Given the description of an element on the screen output the (x, y) to click on. 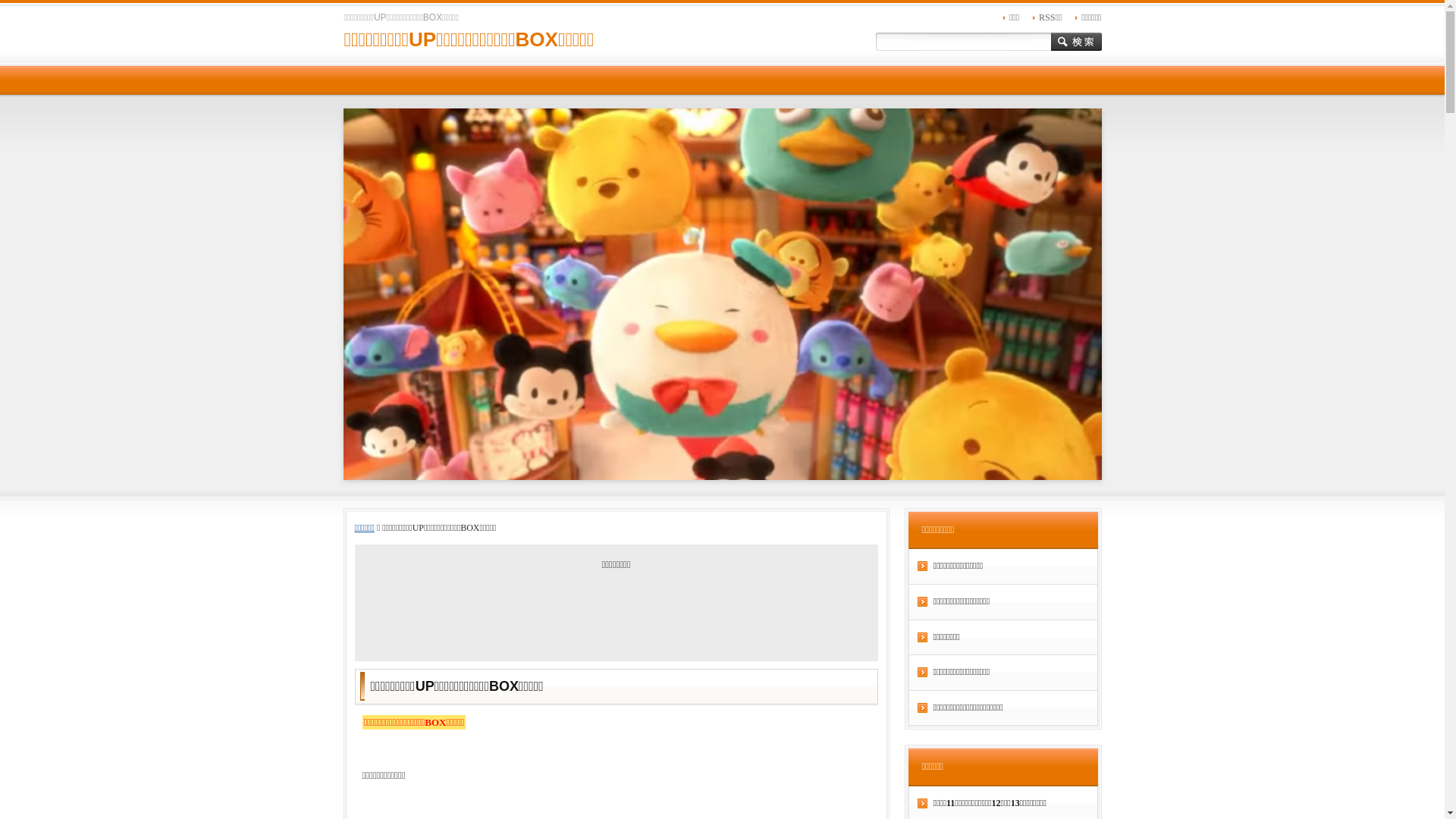
Advertisement Element type: hover (615, 611)
